Given the description of an element on the screen output the (x, y) to click on. 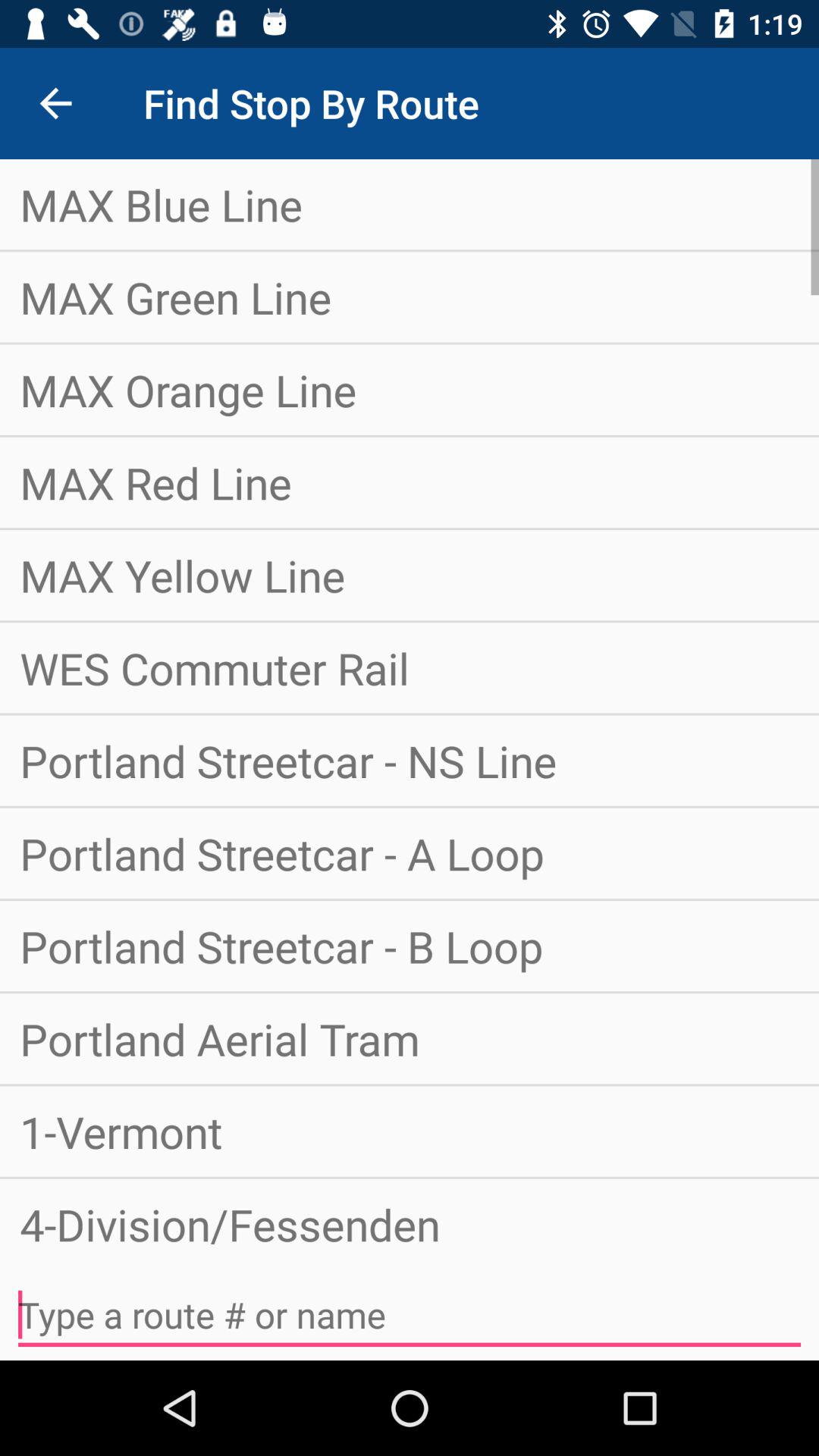
launch the icon next to the find stop by item (55, 103)
